Given the description of an element on the screen output the (x, y) to click on. 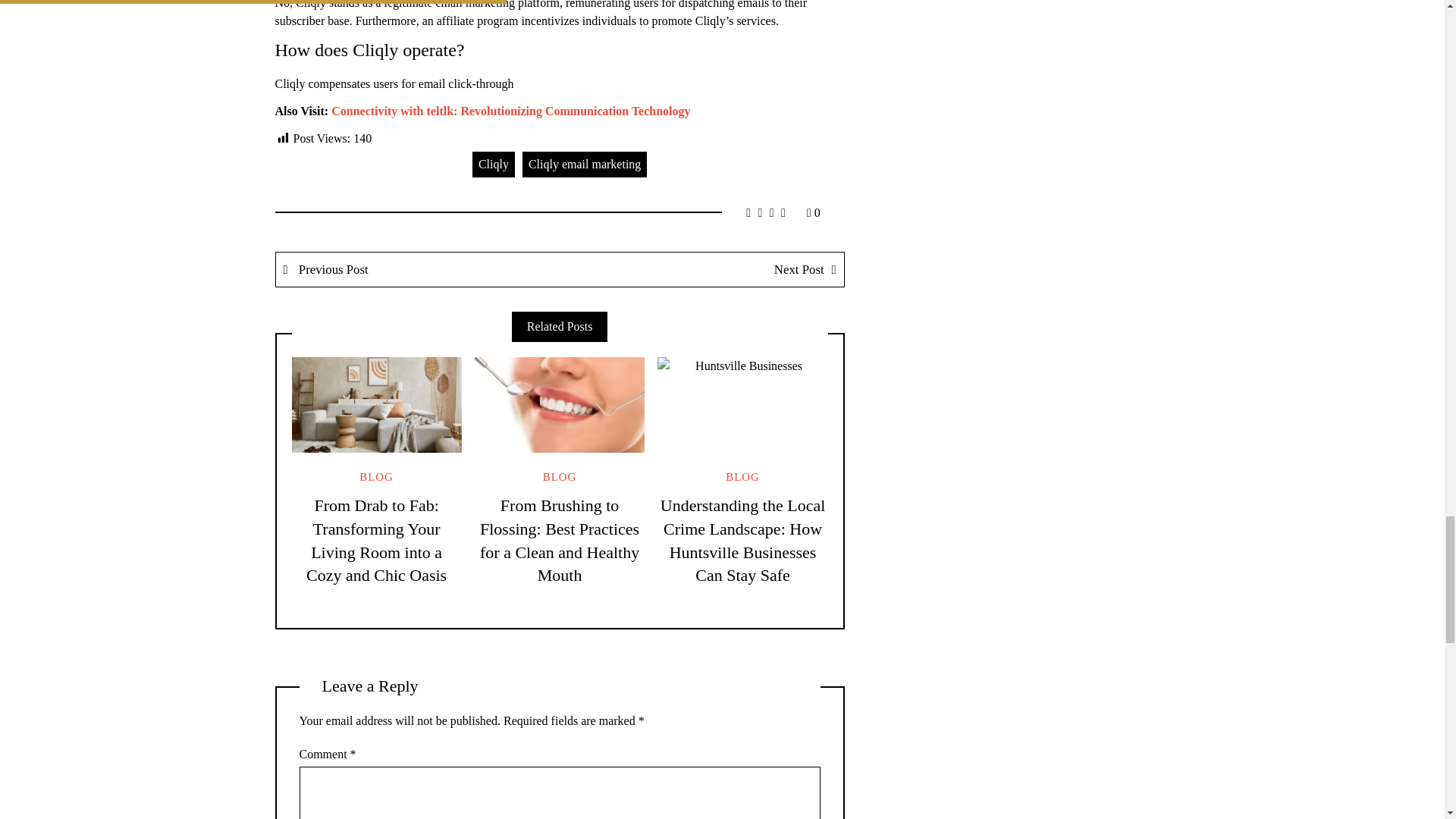
Previous Post (418, 269)
Cliqly (493, 164)
0 (813, 212)
Next Post (701, 269)
BLOG (376, 476)
